Given the description of an element on the screen output the (x, y) to click on. 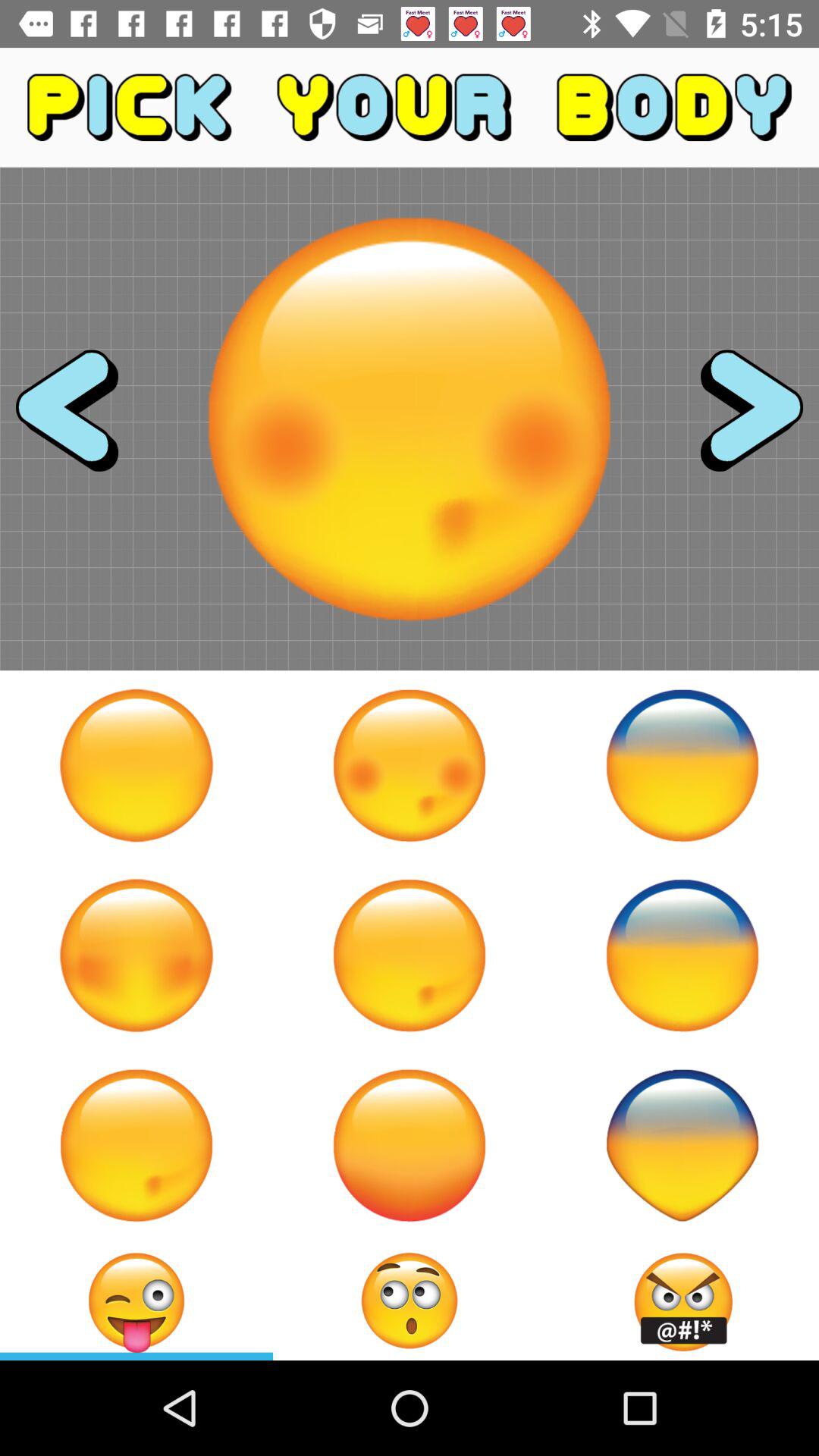
select 8th body (409, 1145)
